Given the description of an element on the screen output the (x, y) to click on. 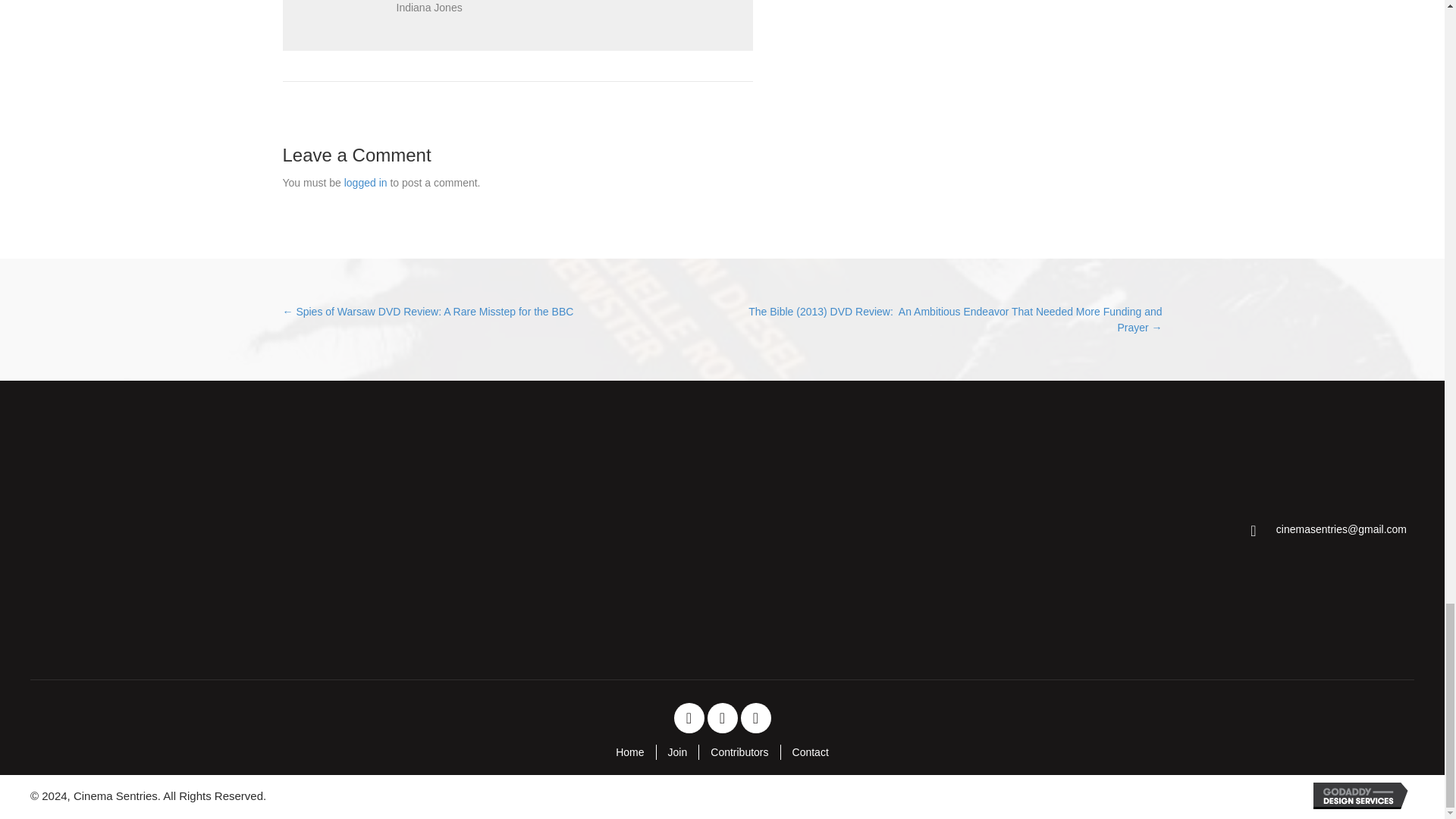
Twitter (721, 717)
Instagram (754, 717)
Facebook (687, 717)
Cinema Sentries (148, 530)
logged in (365, 182)
